Given the description of an element on the screen output the (x, y) to click on. 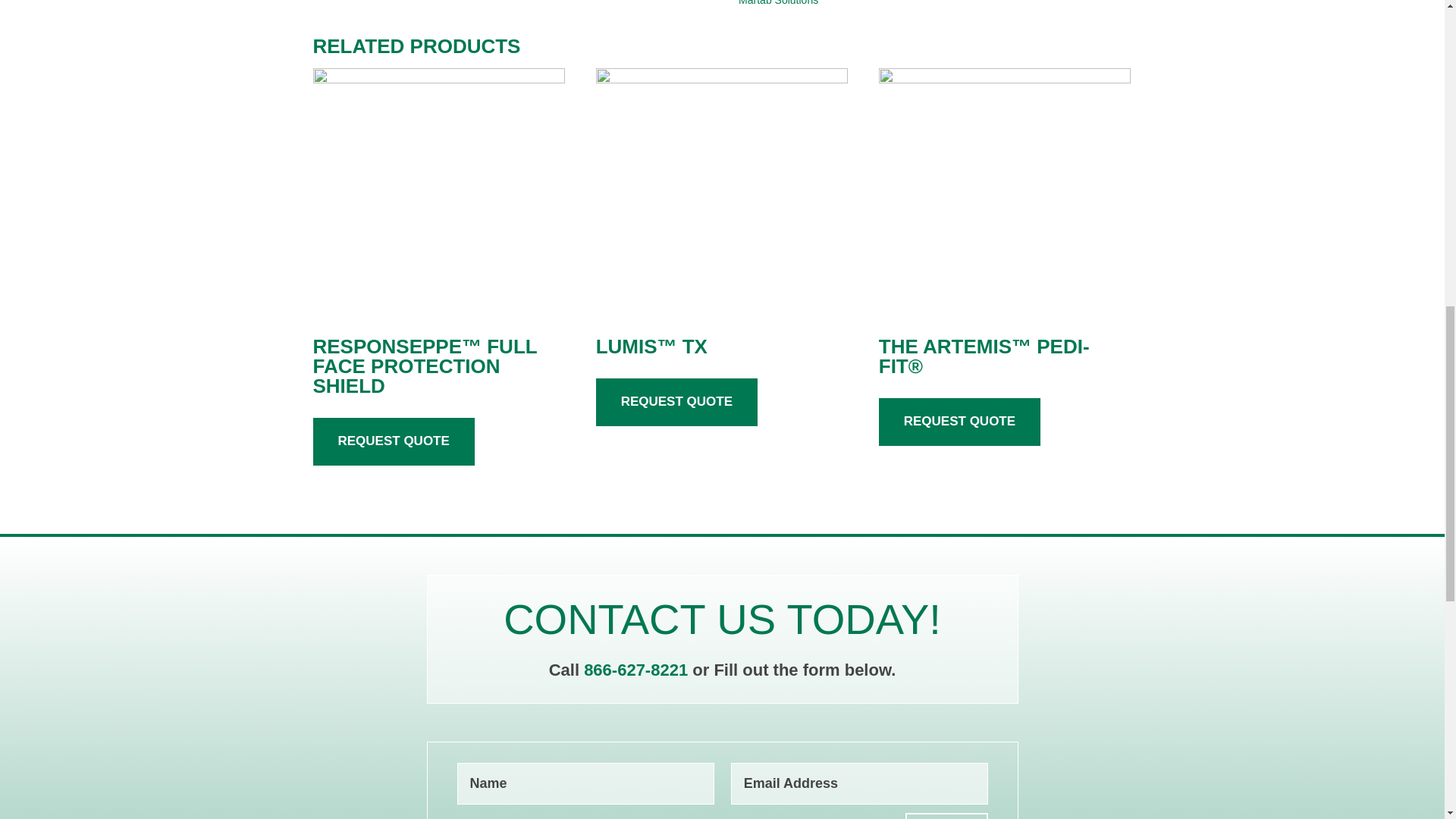
REQUEST QUOTE (960, 421)
SUBMIT (946, 816)
866-627-8221  (638, 669)
REQUEST QUOTE (393, 441)
Martab Solutions (778, 2)
REQUEST QUOTE (676, 401)
